Given the description of an element on the screen output the (x, y) to click on. 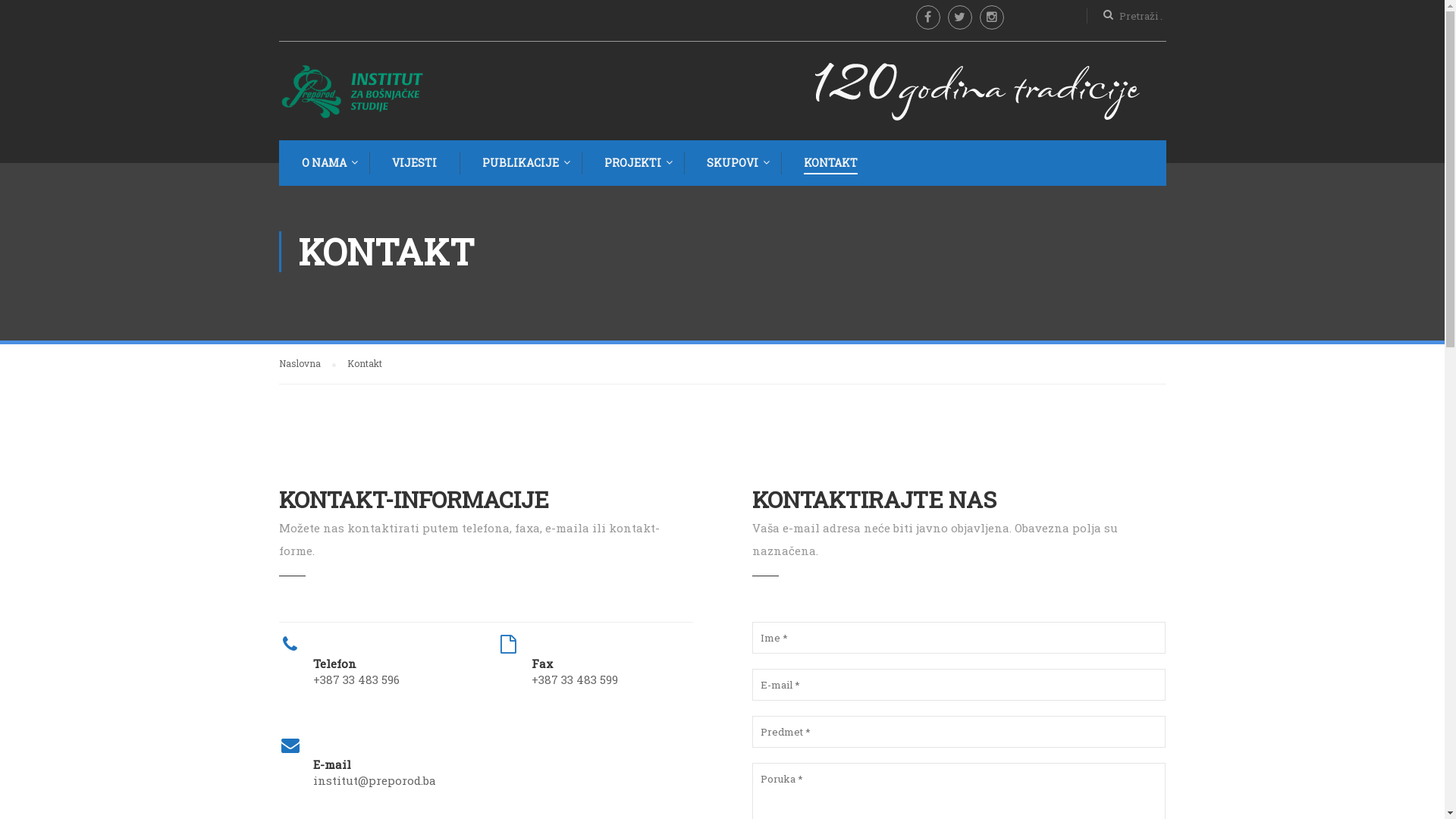
Naslovna Element type: text (307, 363)
PROJEKTI Element type: text (630, 162)
O NAMA Element type: text (322, 162)
KONTAKT Element type: text (829, 162)
Pretraga Element type: text (18, 15)
PUBLIKACIJE Element type: text (518, 162)
VIJESTI Element type: text (411, 162)
SKUPOVI Element type: text (731, 162)
